Given the description of an element on the screen output the (x, y) to click on. 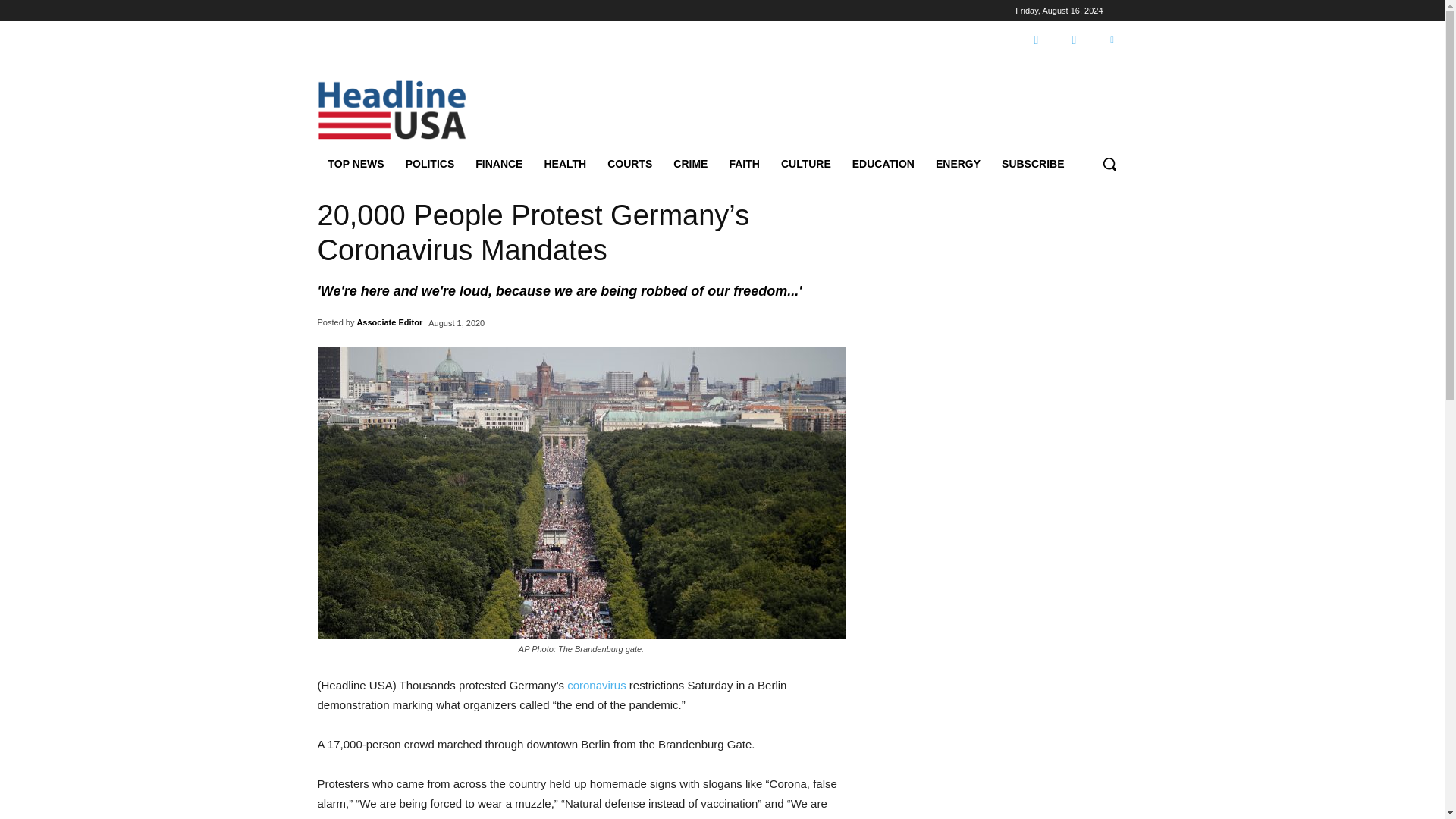
CULTURE (805, 163)
ENERGY (957, 163)
Associate Editor (389, 322)
CRIME (689, 163)
HEALTH (564, 163)
Twitter (1111, 40)
EDUCATION (882, 163)
COURTS (629, 163)
FINANCE (498, 163)
FAITH (743, 163)
